Given the description of an element on the screen output the (x, y) to click on. 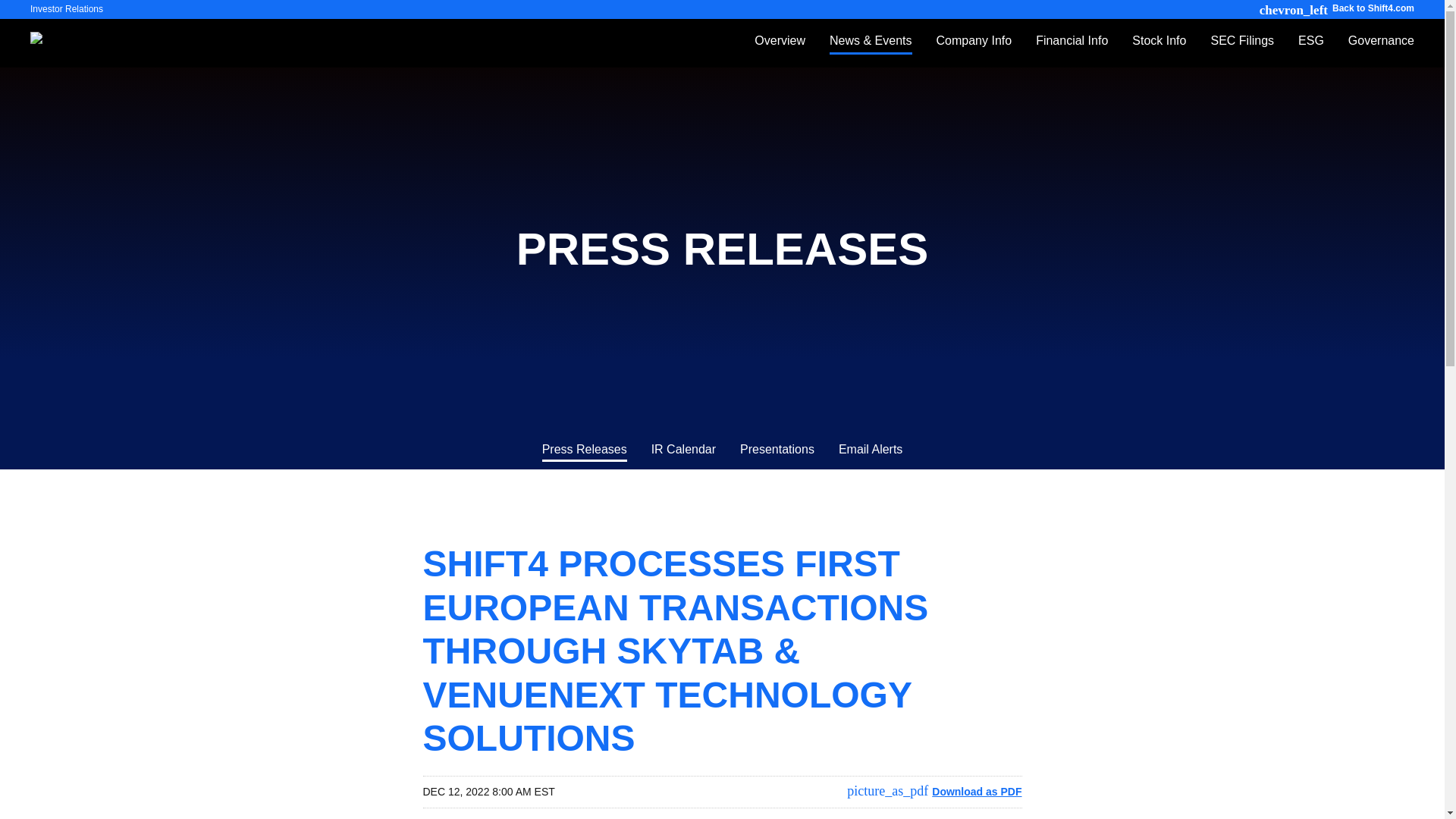
Company Info (974, 49)
Back to Shift4.com (1336, 8)
Stock Info (1158, 49)
Overview (779, 49)
SEC Filings (1241, 49)
Governance (1374, 49)
Financial Info (1071, 49)
ESG (1310, 49)
